Given the description of an element on the screen output the (x, y) to click on. 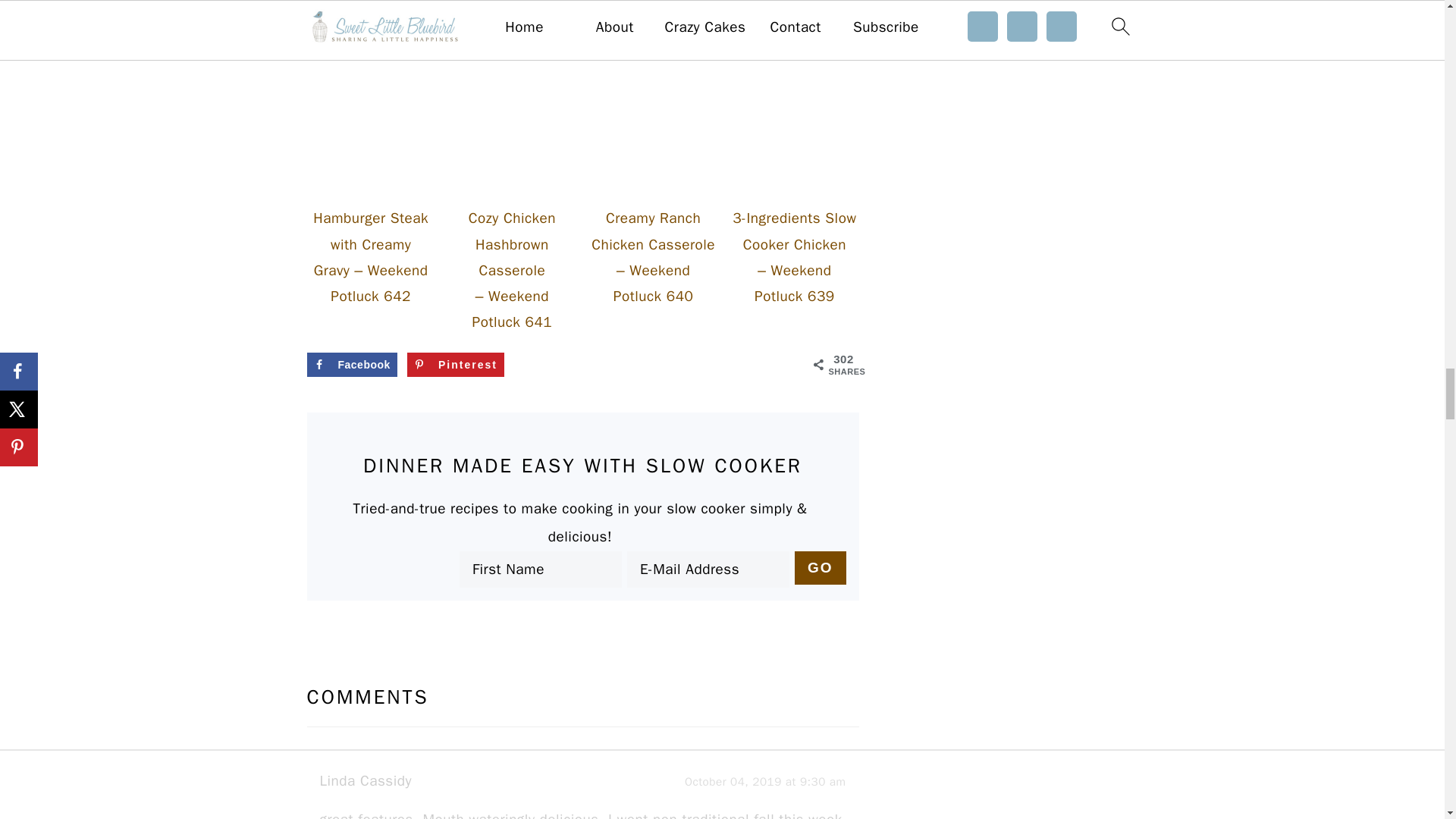
Share on Facebook (350, 364)
Go (819, 567)
